Given the description of an element on the screen output the (x, y) to click on. 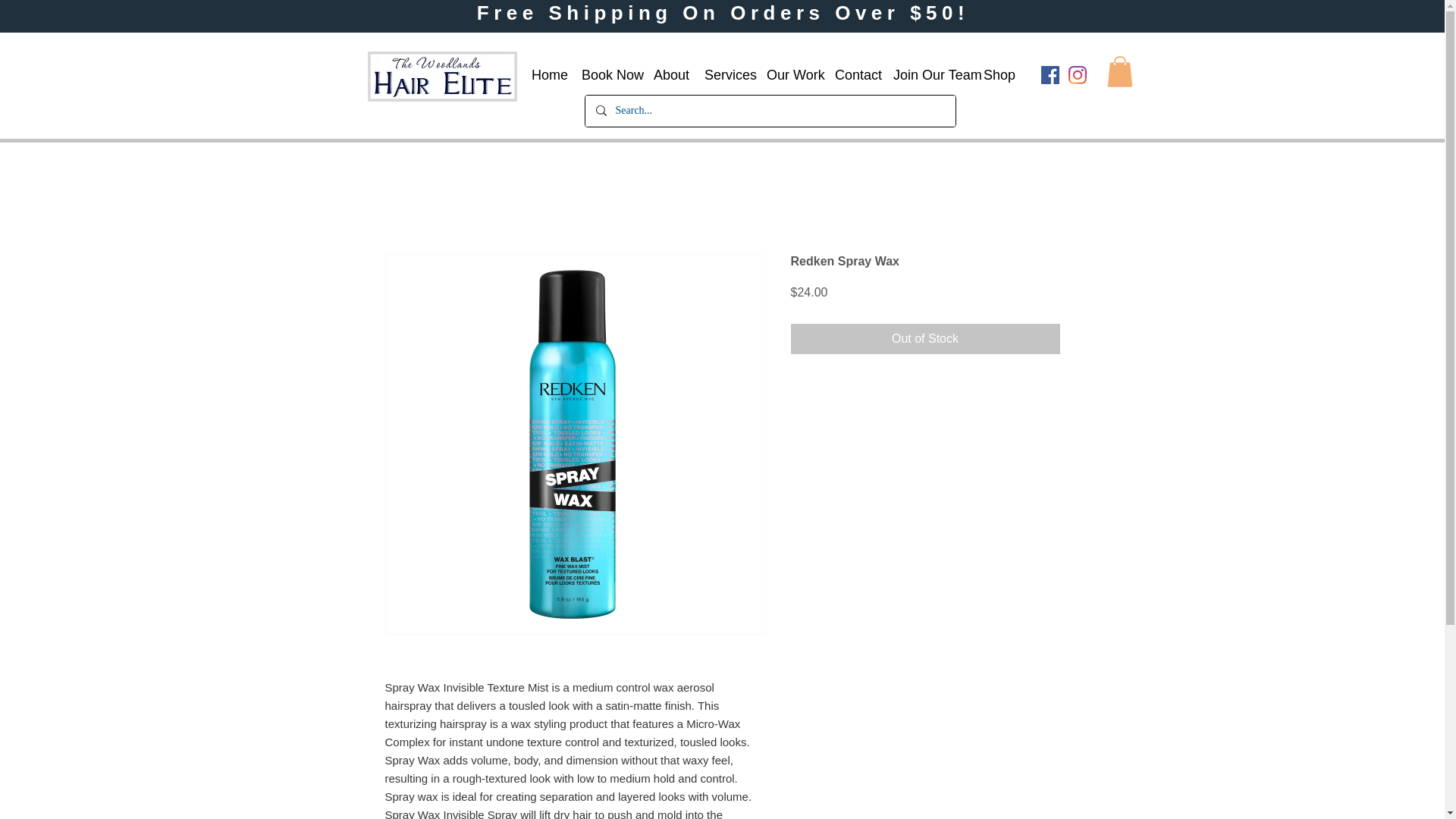
About (667, 75)
Out of Stock (924, 338)
Shop (996, 75)
Contact (853, 75)
Join Our Team (927, 75)
Our Work (789, 75)
Services (724, 75)
Book Now (606, 75)
Home (544, 75)
